Given the description of an element on the screen output the (x, y) to click on. 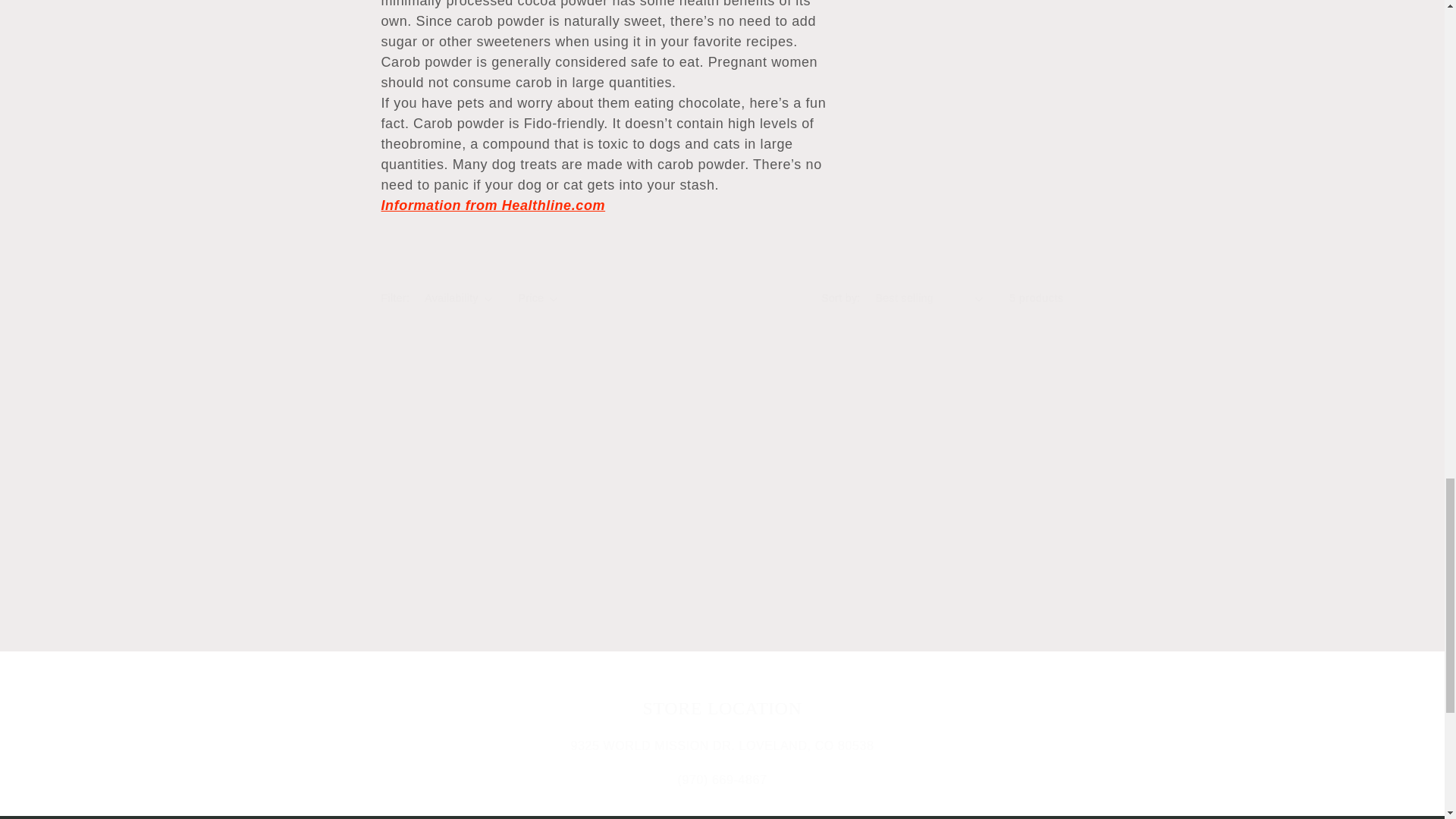
STORE LOCATION (721, 708)
